Given the description of an element on the screen output the (x, y) to click on. 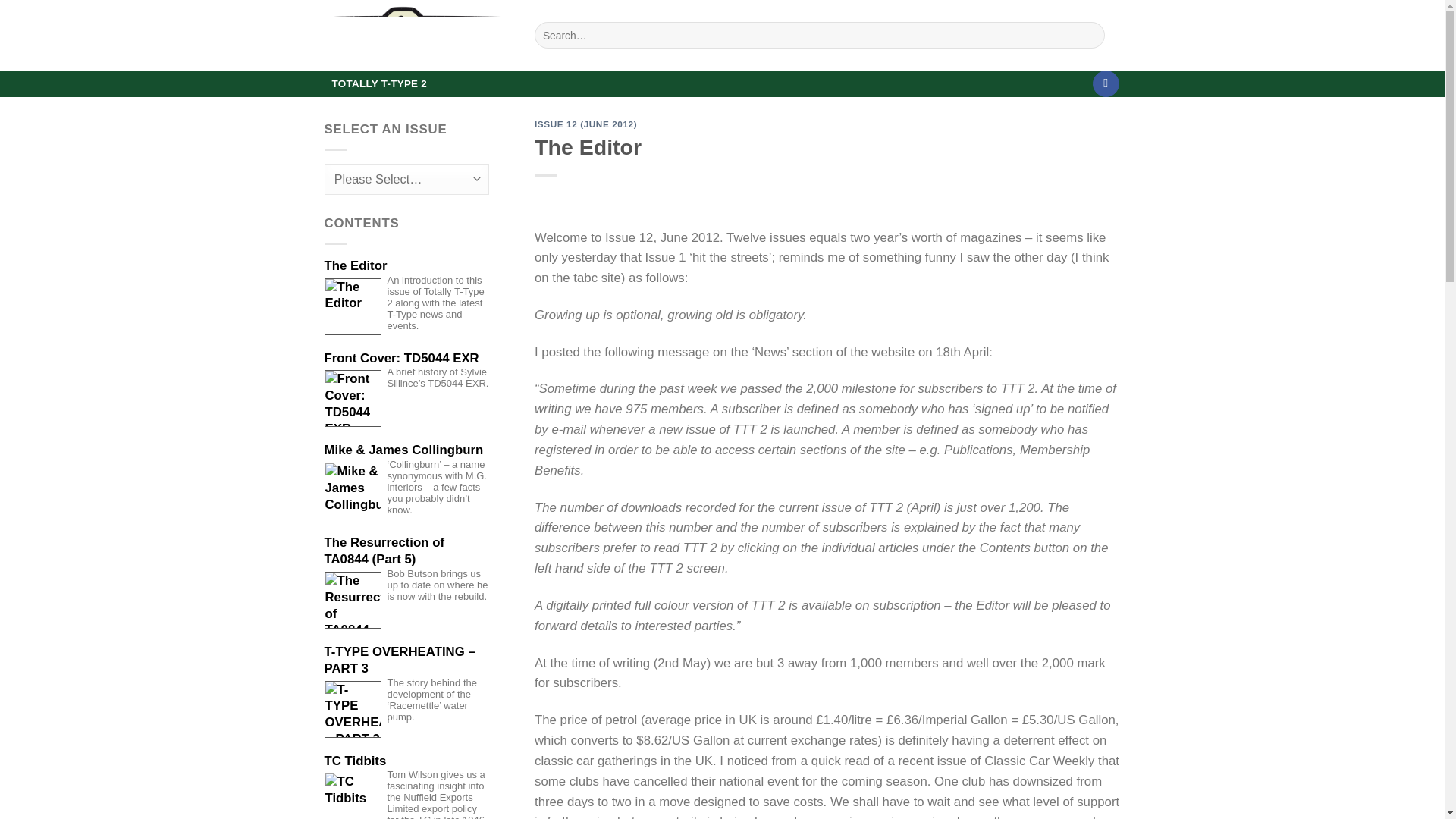
Front Cover: TD5044 EXR (406, 358)
Follow on Facebook (1106, 83)
The Editor (406, 265)
TC Tidbits (406, 760)
The MG T Society (418, 34)
TOTALLY T-TYPE 2 (379, 84)
